Given the description of an element on the screen output the (x, y) to click on. 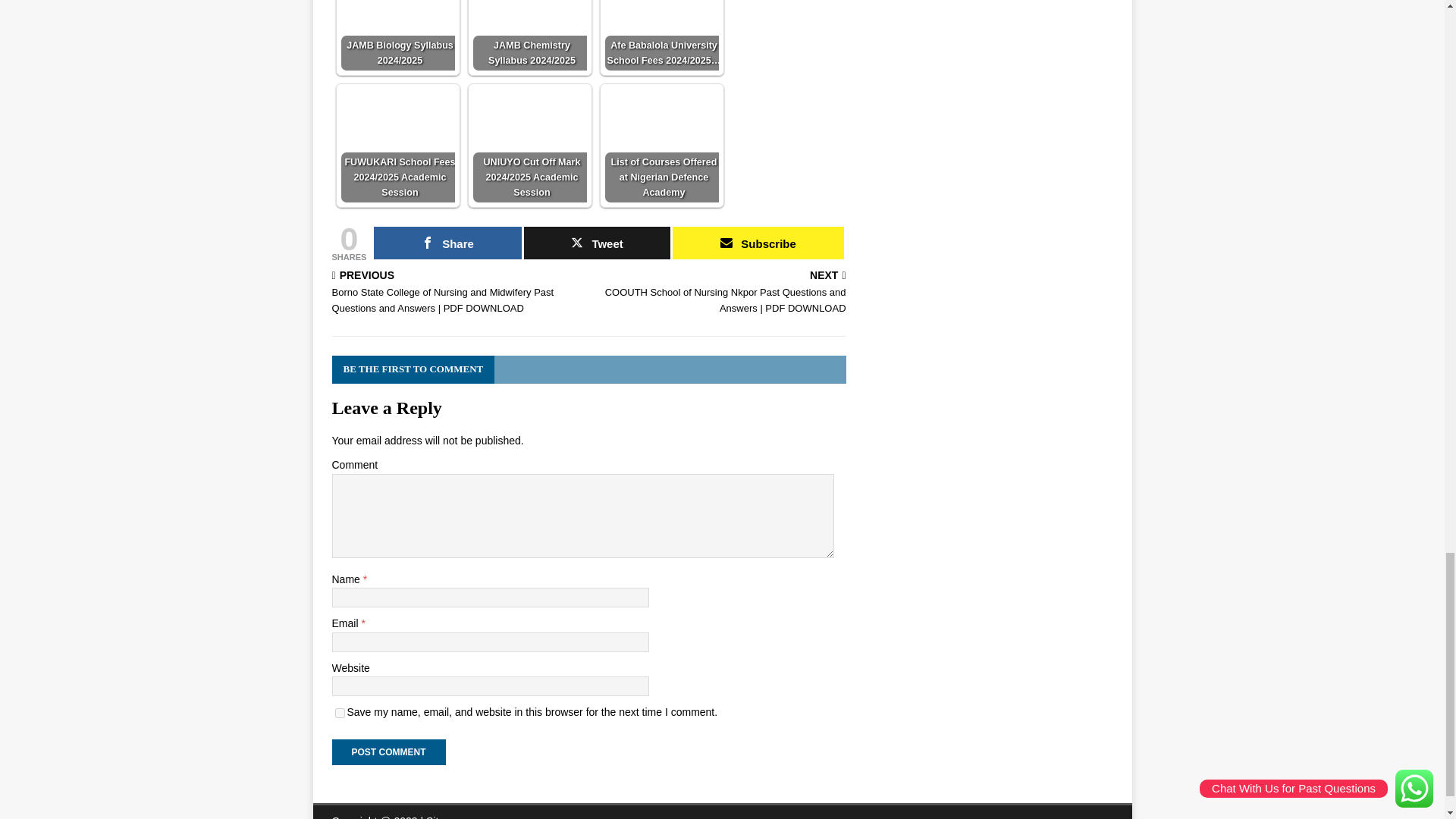
Subscribe (757, 242)
Tweet (597, 242)
Post Comment (388, 751)
Share (447, 242)
Post Comment (388, 751)
yes (339, 713)
List of Courses Offered at Nigerian Defence Academy (662, 145)
